Given the description of an element on the screen output the (x, y) to click on. 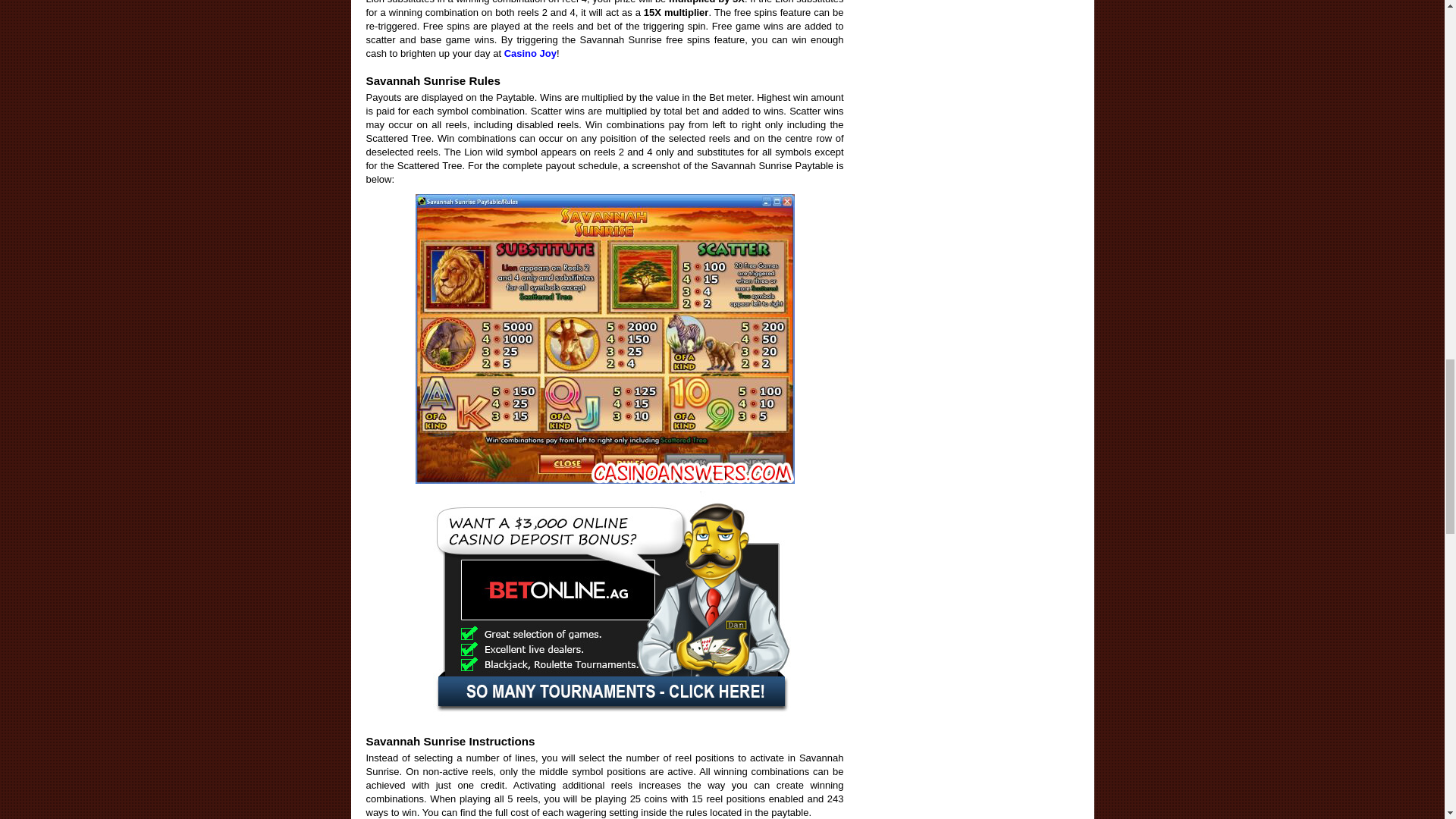
savannah-sunrise-cryptologic-video-slot-02 (604, 339)
